Given the description of an element on the screen output the (x, y) to click on. 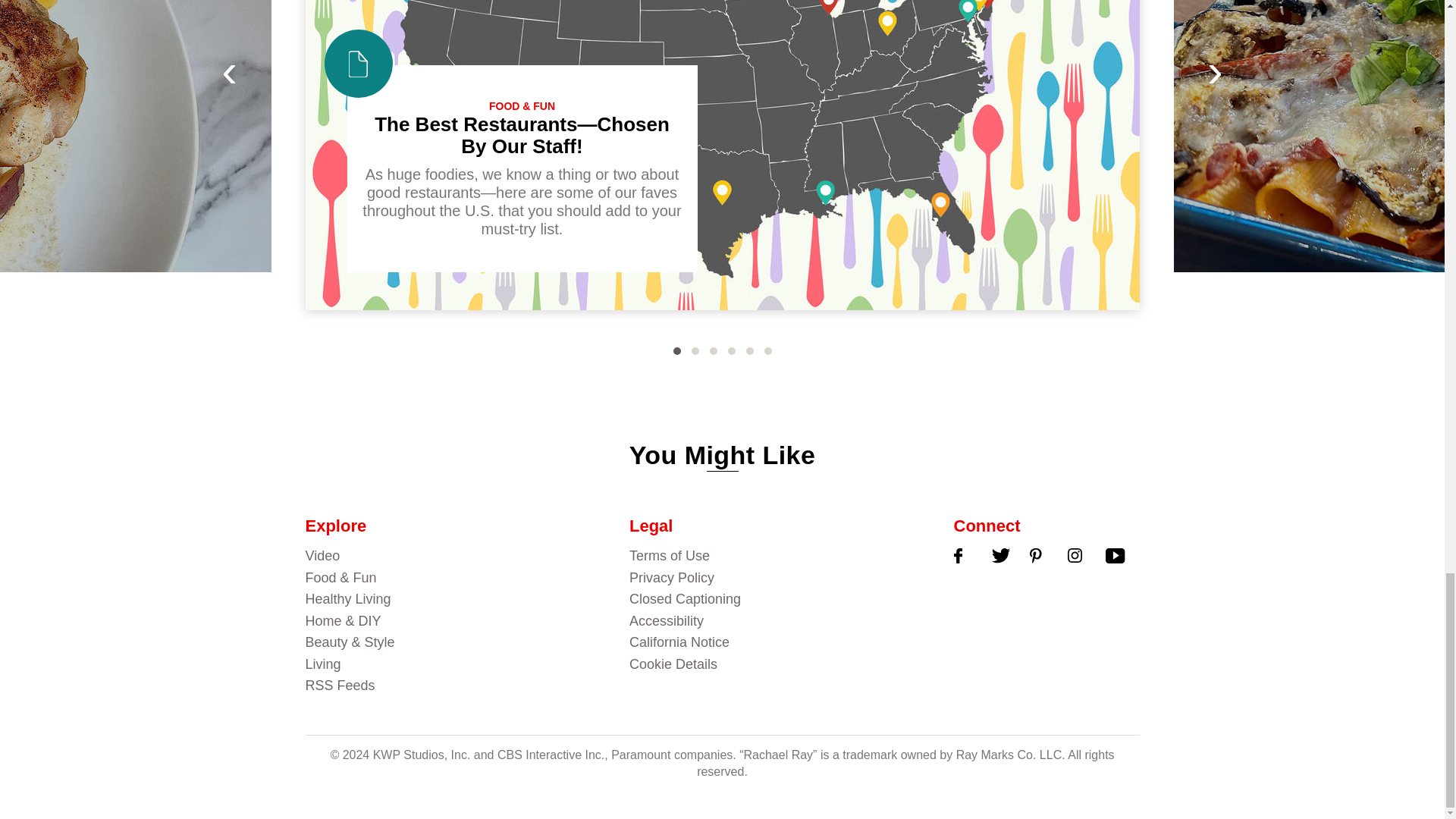
Accessibility (775, 621)
